Given the description of an element on the screen output the (x, y) to click on. 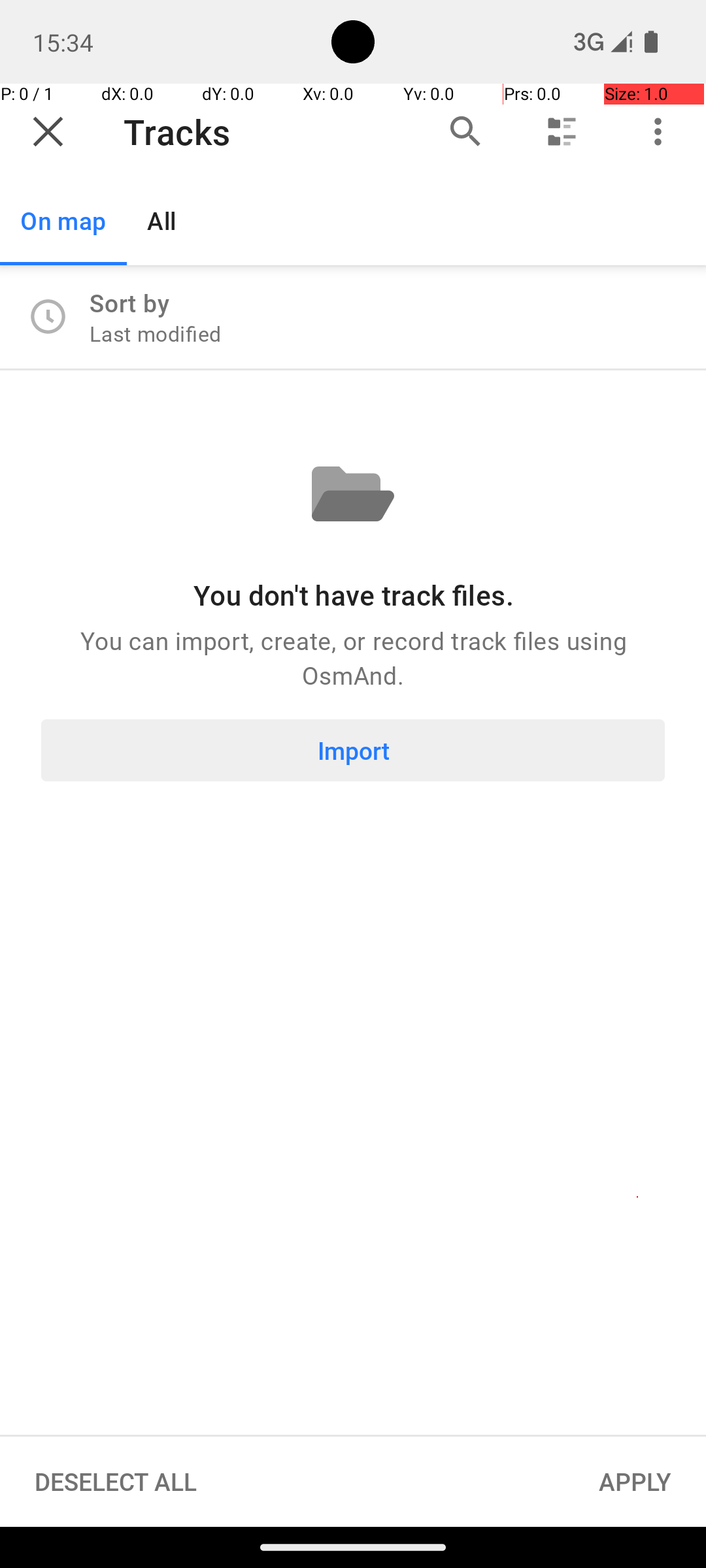
Tracks Element type: android.widget.TextView (256, 131)
Switch folder Element type: android.widget.ImageButton (561, 131)
More actions Element type: android.widget.ImageButton (657, 131)
DESELECT ALL Element type: android.widget.TextView (115, 1481)
APPLY Element type: android.widget.TextView (634, 1481)
On map Element type: android.widget.TextView (63, 220)
All Element type: android.widget.TextView (161, 220)
Last modified Element type: android.widget.TextView (155, 333)
You don't have track files. Element type: android.widget.TextView (352, 594)
You can import, create, or record track files using OsmAnd. Element type: android.widget.TextView (352, 657)
Import Element type: android.widget.TextView (352, 750)
